Given the description of an element on the screen output the (x, y) to click on. 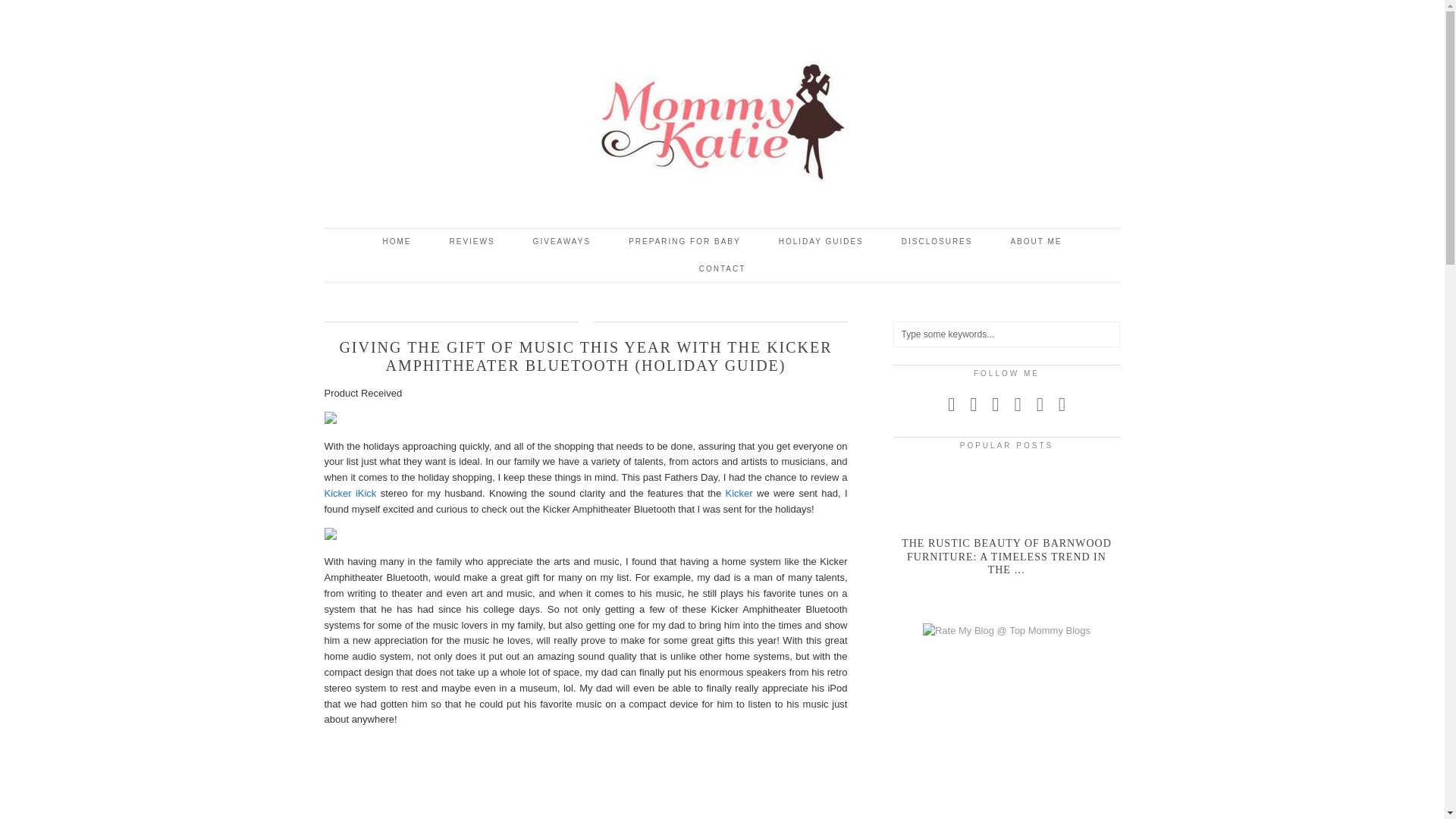
DISCLOSURES (936, 241)
Kicker iKick (350, 492)
REVIEWS (471, 241)
Search for: (1007, 334)
ABOUT ME (1035, 241)
CONTACT (722, 268)
HOME (395, 241)
HOLIDAY GUIDES (821, 241)
Kicker (738, 492)
PREPARING FOR BABY (685, 241)
GIVEAWAYS (561, 241)
